Given the description of an element on the screen output the (x, y) to click on. 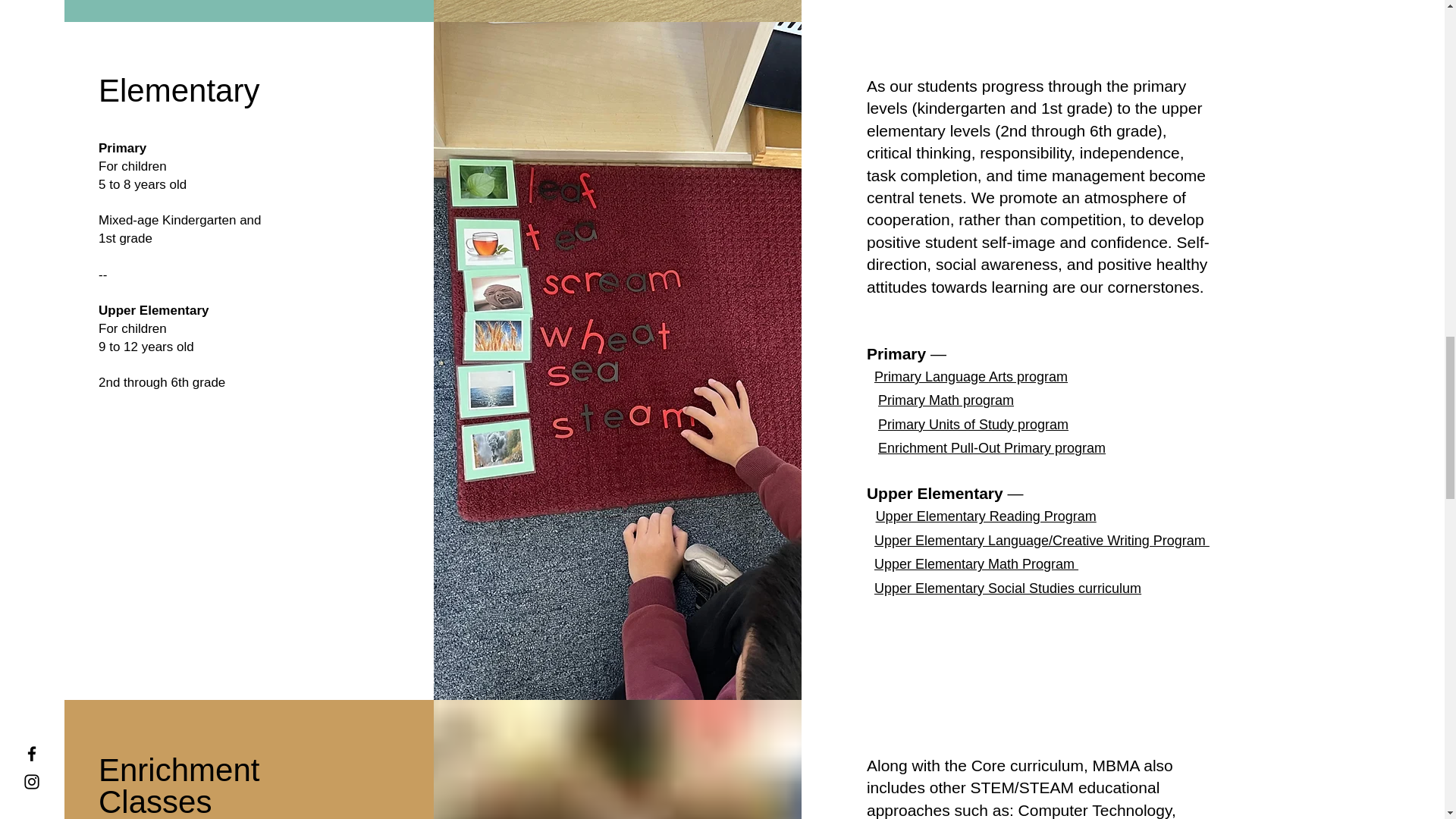
Primary Ma (912, 400)
Upper Elementary Math Program  (976, 563)
Primary Units of Study program (972, 424)
Enrichment Pull-Out Primary program (991, 447)
Primary Language Arts program (971, 376)
Upper Elementary Social Studies curriculum (1008, 588)
Upper Elementary Reading Program (986, 516)
th program (980, 400)
